Given the description of an element on the screen output the (x, y) to click on. 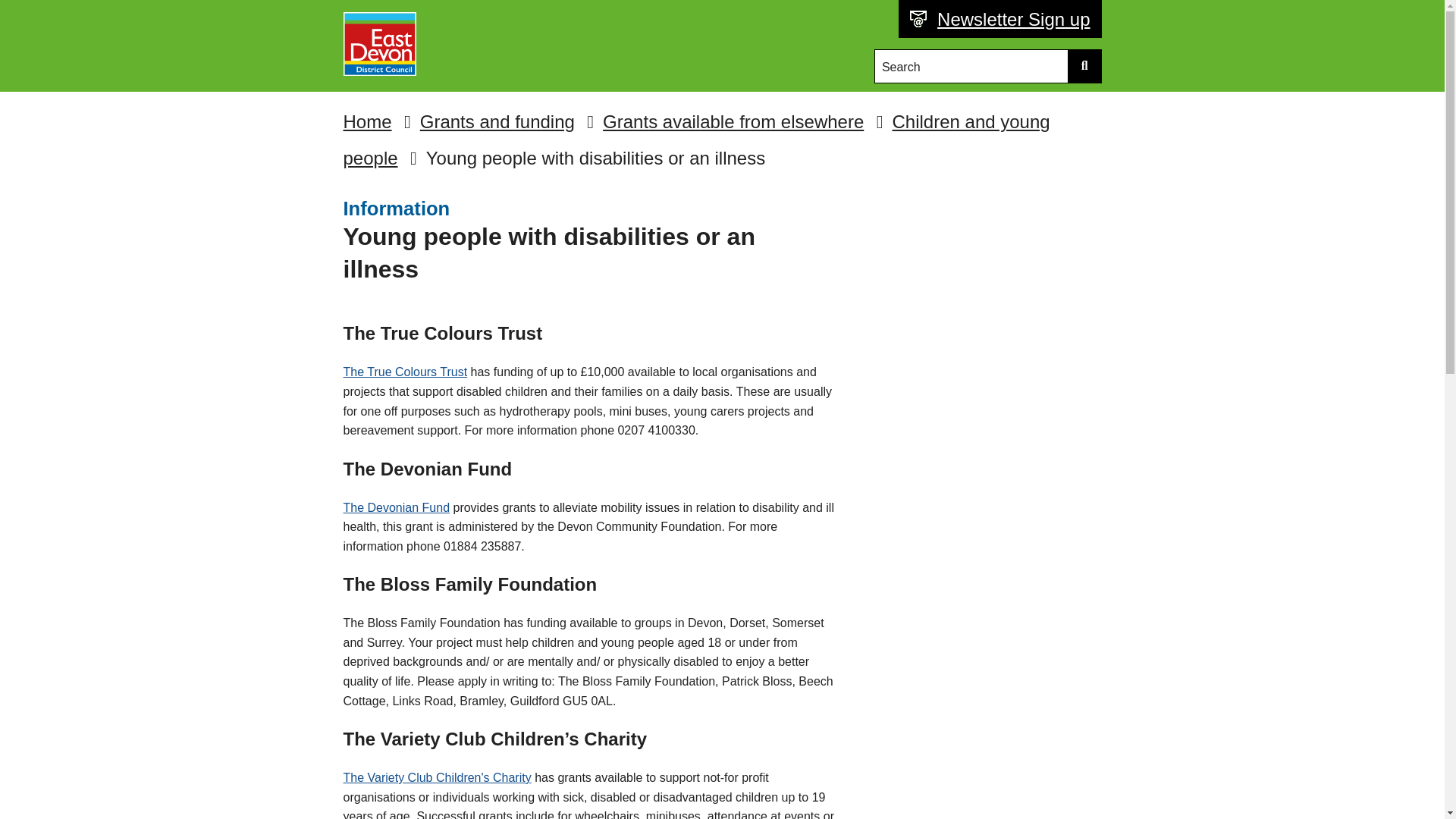
Devonian Fund website (395, 507)
The Variety Club Children's Charity (436, 777)
Newsletter Sign up (1008, 20)
Variety Club website (436, 777)
Children and young people (695, 139)
Grants and funding (497, 121)
The True Colours Trust (404, 371)
Home (366, 121)
True Colours Trust website (404, 371)
The Devonian Fund (395, 507)
Search (971, 66)
Grants available from elsewhere (732, 121)
search (1084, 66)
